Given the description of an element on the screen output the (x, y) to click on. 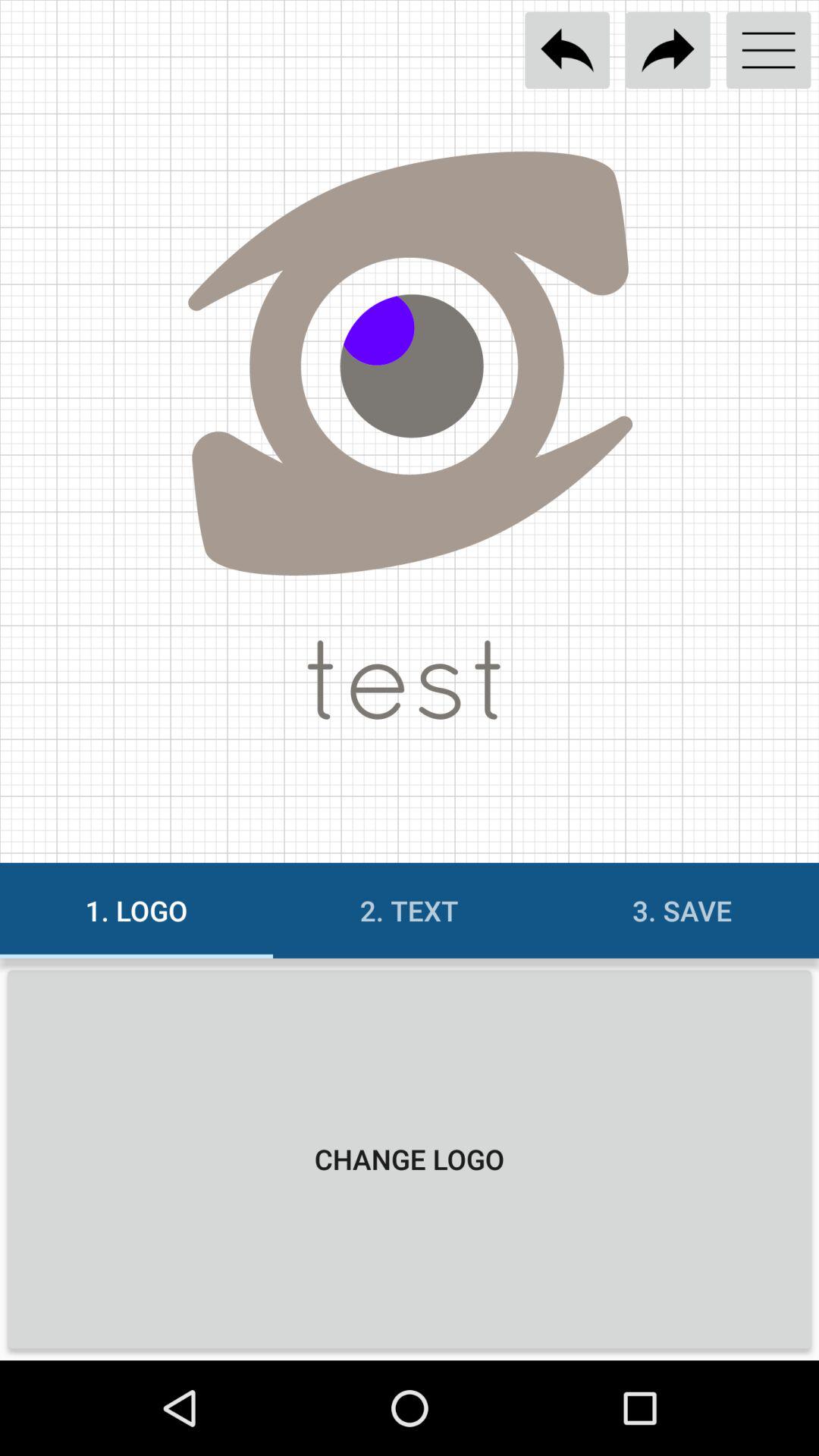
forward (667, 50)
